Given the description of an element on the screen output the (x, y) to click on. 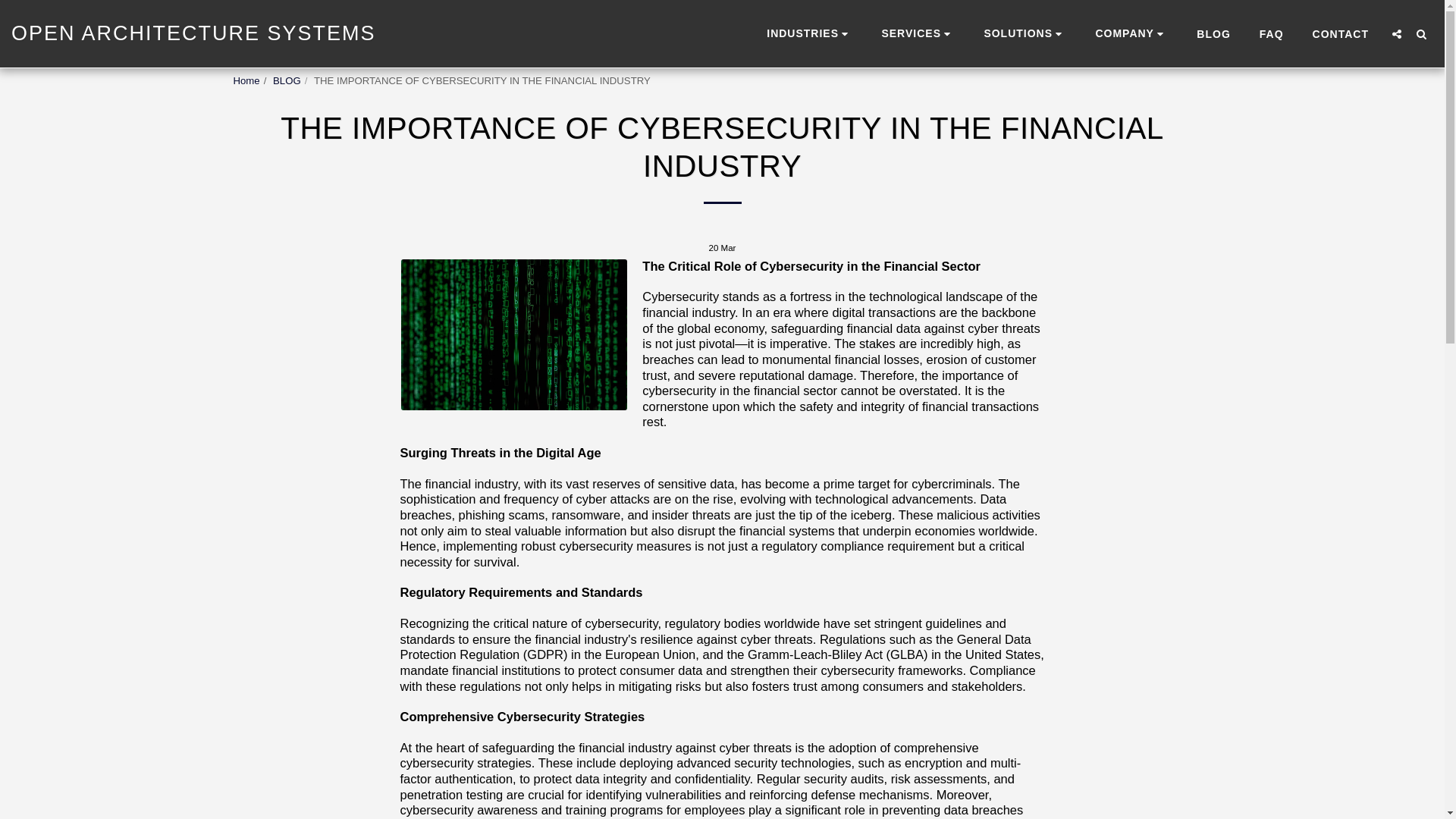
SERVICES   (917, 33)
FAQ (1271, 33)
BLOG (287, 80)
INDUSTRIES   (809, 33)
OPEN ARCHITECTURE SYSTEMS (193, 33)
COMPANY   (1131, 33)
CONTACT (1340, 33)
Home (246, 80)
SOLUTIONS   (1024, 33)
BLOG (1213, 33)
